Given the description of an element on the screen output the (x, y) to click on. 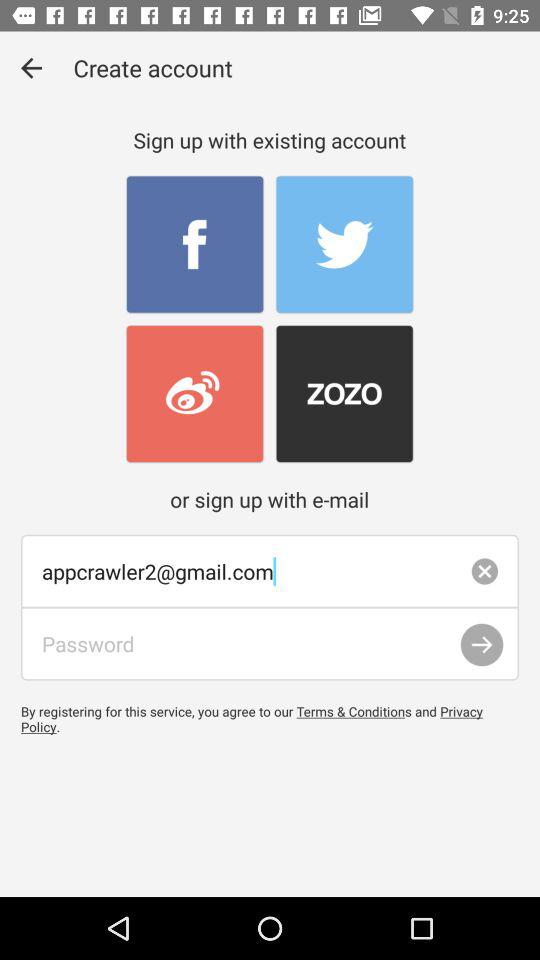
sign up through twitter account (344, 244)
